Given the description of an element on the screen output the (x, y) to click on. 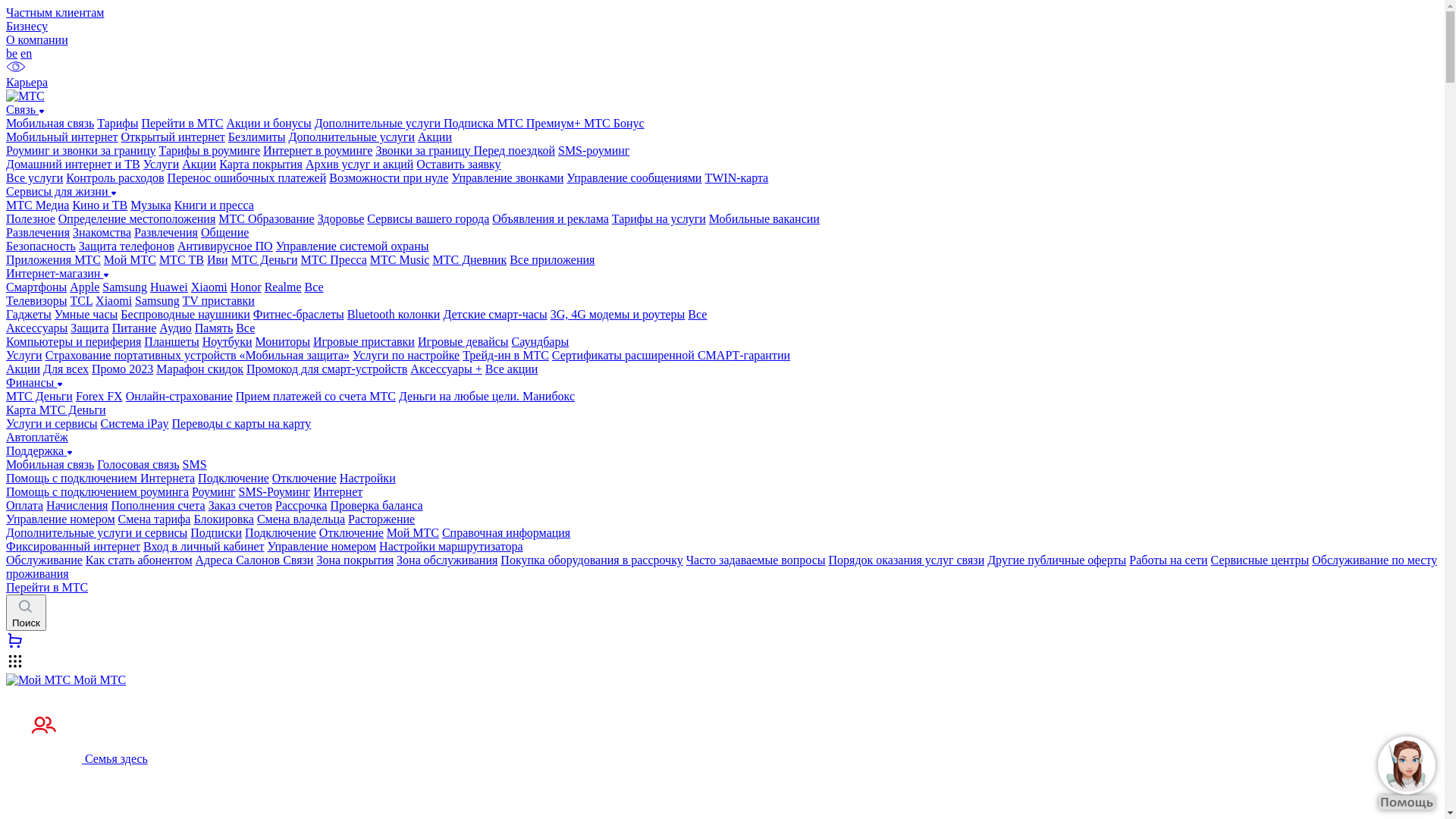
Samsung Element type: text (156, 300)
Huawei Element type: text (169, 286)
SMS Element type: text (194, 464)
en Element type: text (25, 53)
Xiaomi Element type: text (113, 300)
be Element type: text (11, 53)
Apple Element type: text (84, 286)
Xiaomi Element type: text (209, 286)
Honor Element type: text (245, 286)
TCL Element type: text (80, 300)
Samsung Element type: text (124, 286)
Realme Element type: text (282, 286)
Forex FX Element type: text (98, 395)
